Given the description of an element on the screen output the (x, y) to click on. 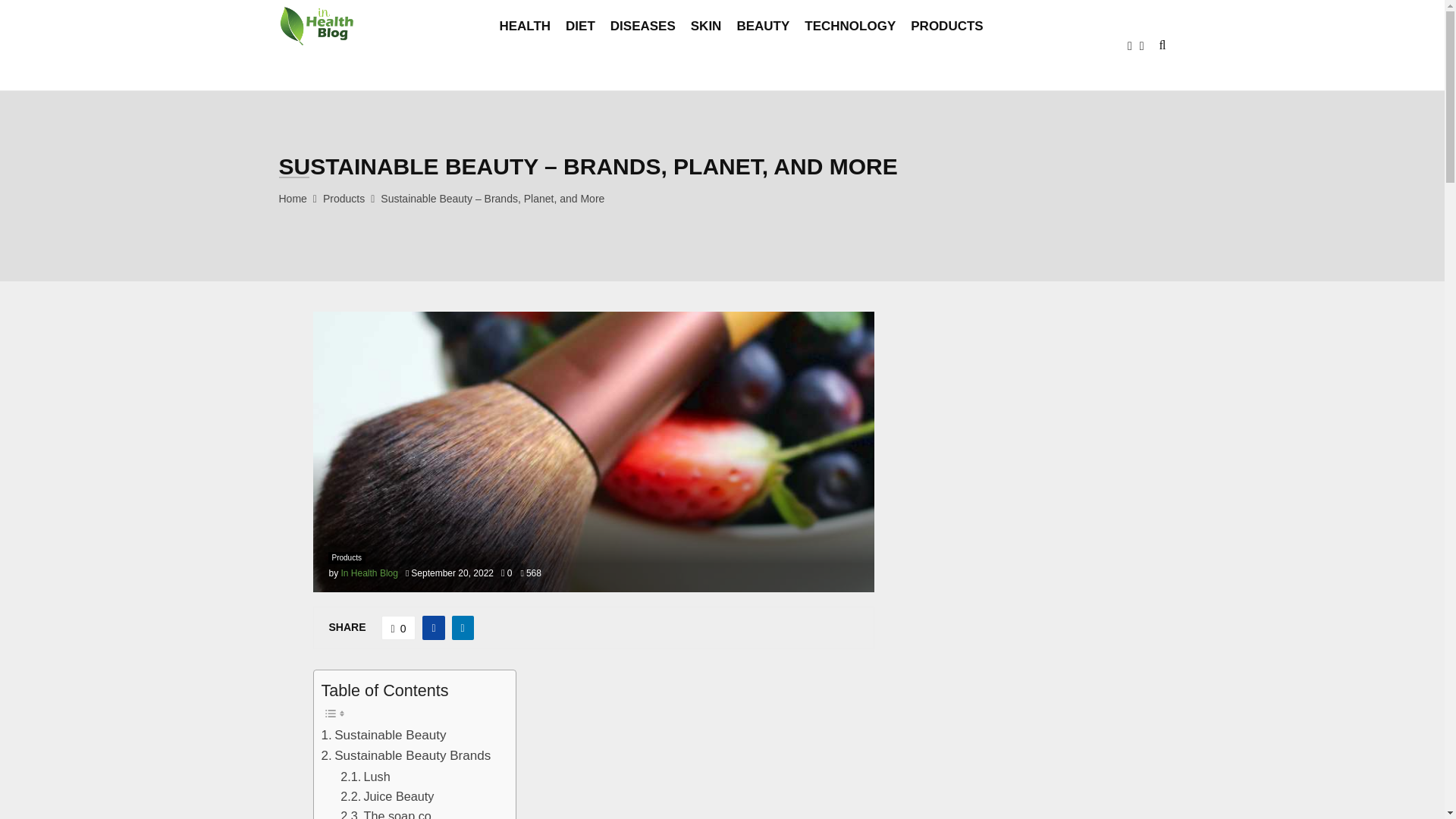
Sustainable Beauty (383, 734)
Home (293, 198)
Sustainable Beauty Brands (406, 755)
Lush (365, 776)
In Health Blog (368, 573)
Juice Beauty (386, 795)
TECHNOLOGY (850, 45)
The soap co. (386, 812)
Products (344, 198)
Sustainable Beauty Brands (406, 755)
